Given the description of an element on the screen output the (x, y) to click on. 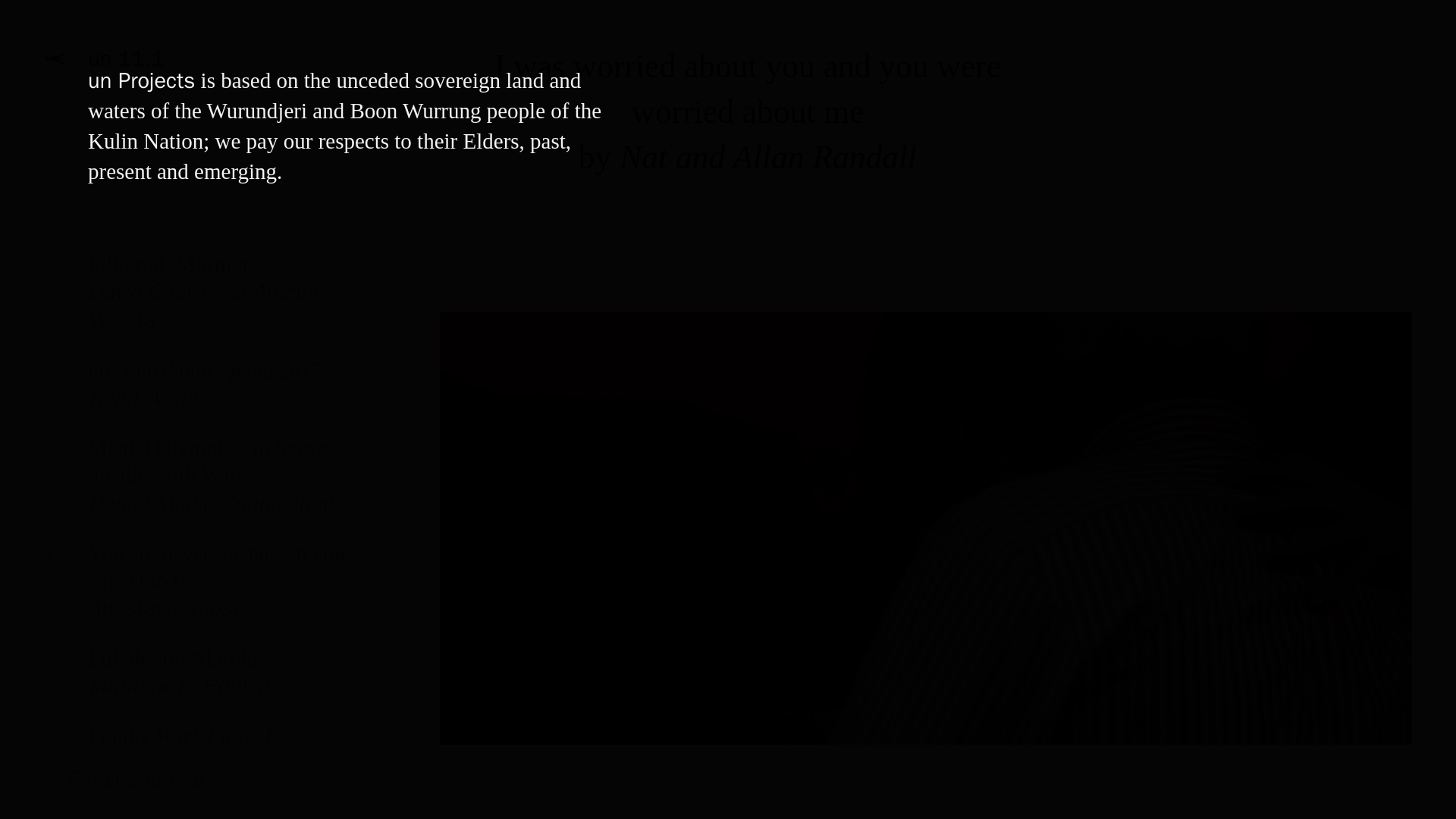
Posts by Nat and Allan Randall (197, 303)
Nat and Allan Randall (197, 683)
